Given the description of an element on the screen output the (x, y) to click on. 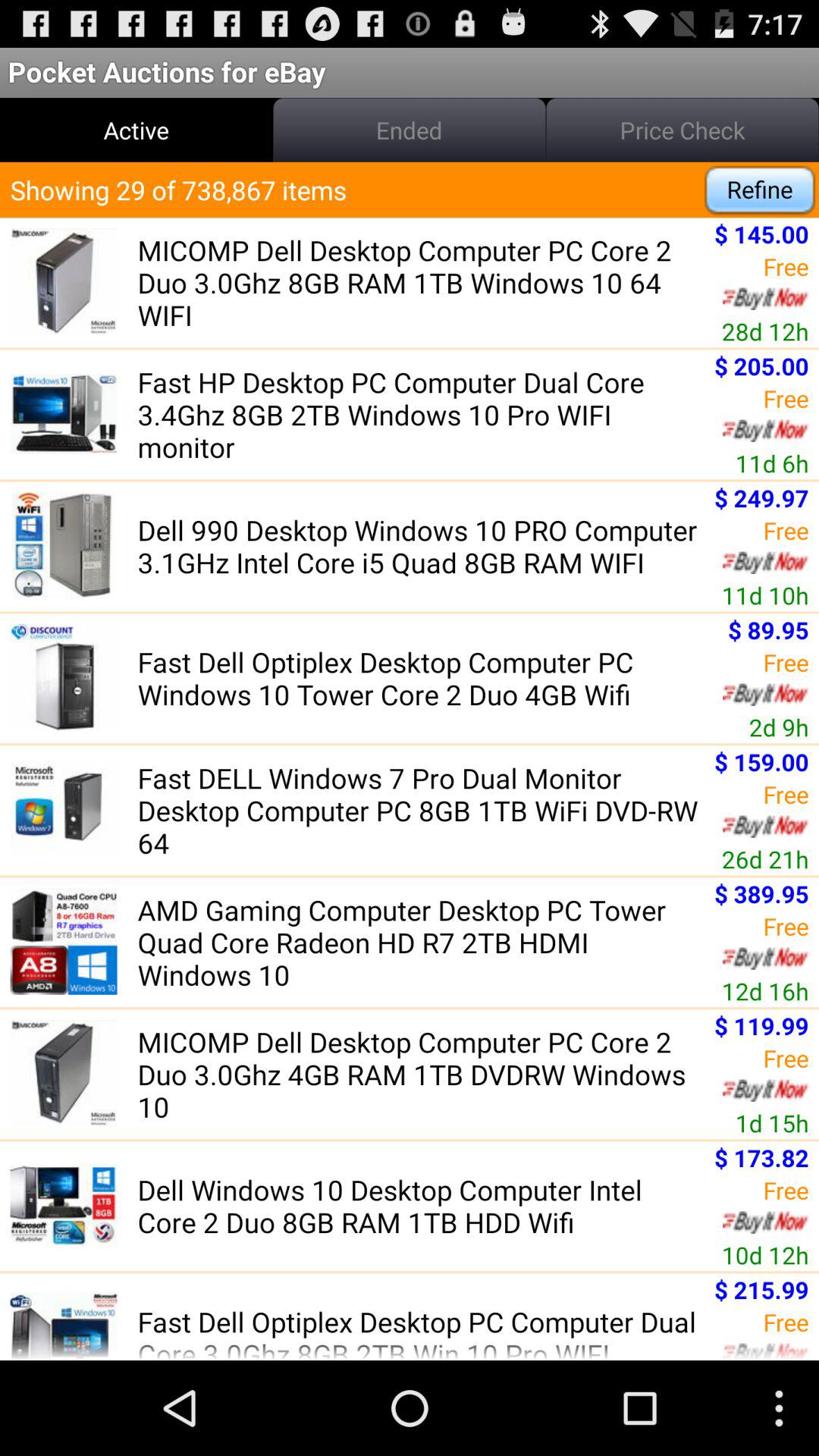
turn on the item next to dell 990 desktop (761, 497)
